Given the description of an element on the screen output the (x, y) to click on. 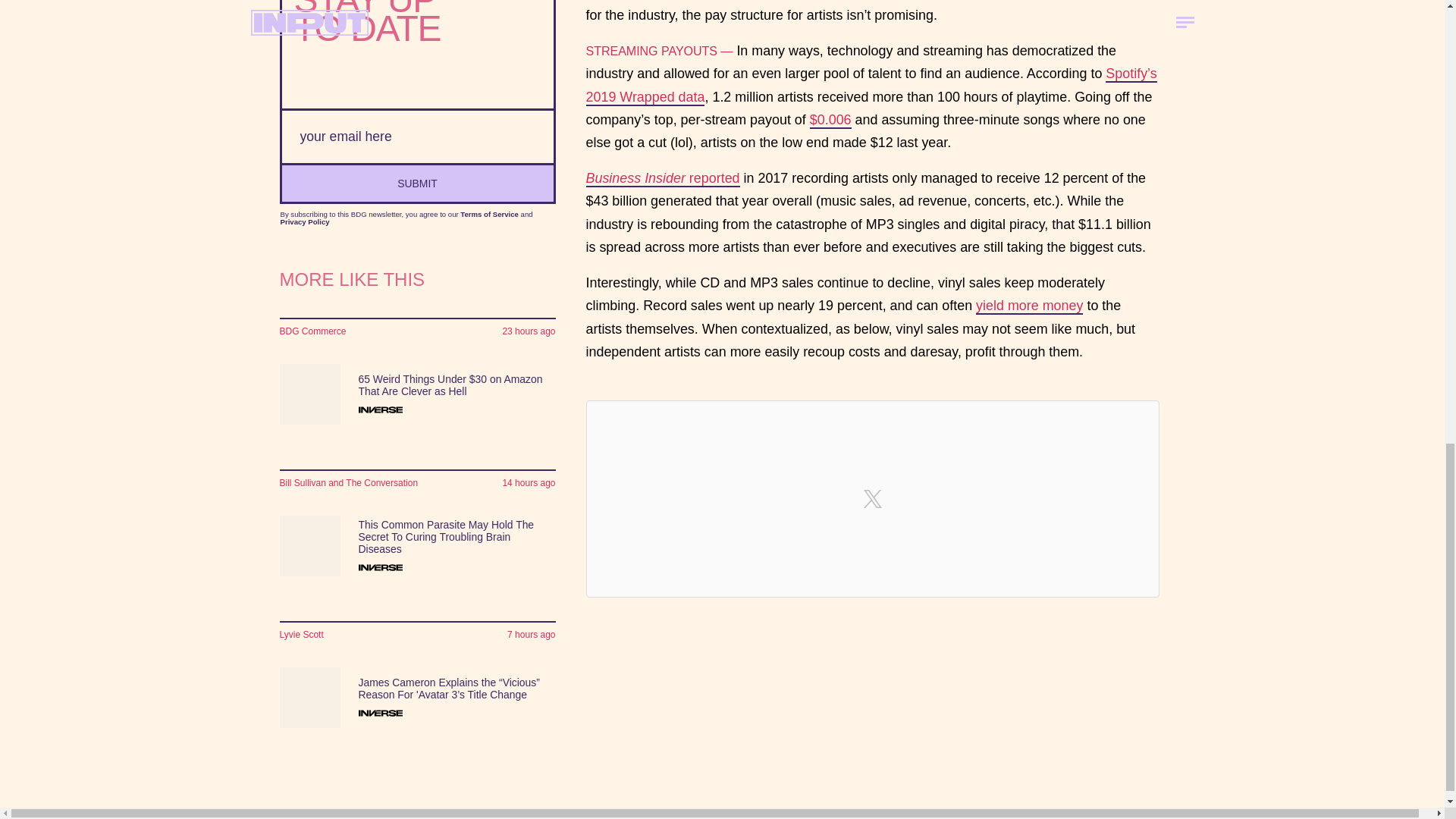
yield more money (1029, 306)
Privacy Policy (305, 221)
Business Insider reported (662, 178)
Terms of Service (489, 213)
SUBMIT (417, 181)
